Given the description of an element on the screen output the (x, y) to click on. 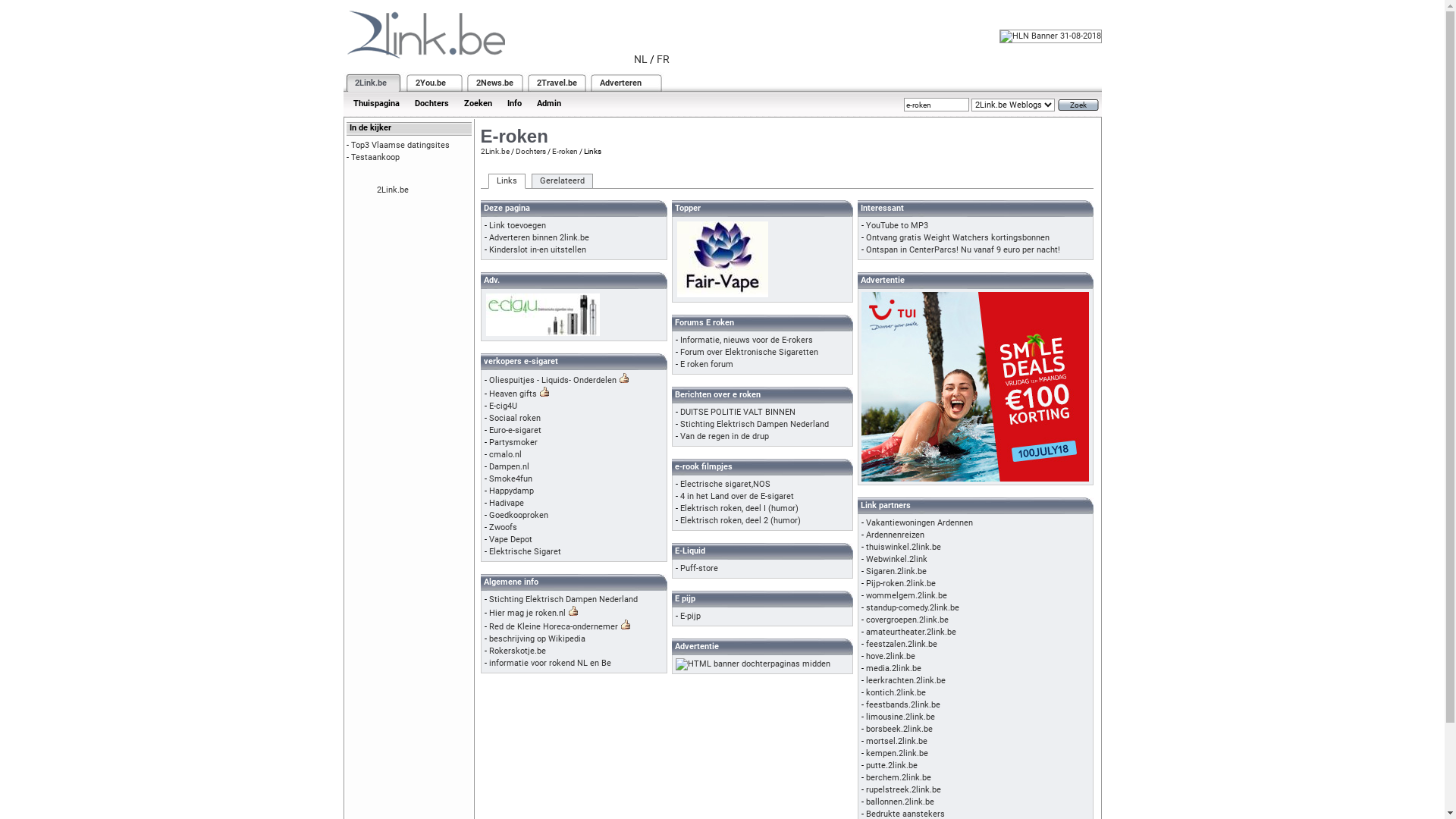
Adverteren Element type: text (619, 82)
media.2link.be Element type: text (893, 668)
2News.be Element type: text (494, 82)
Admin Element type: text (548, 103)
Thuispagina Element type: text (376, 103)
Stichting Elektrisch Dampen Nederland Element type: text (753, 424)
Links Element type: text (506, 180)
Electrische sigaret,NOS Element type: text (724, 484)
NL Element type: text (640, 59)
limousine.2link.be Element type: text (900, 716)
Sigaren.2link.be Element type: text (896, 571)
E-roken Element type: text (564, 151)
Dochters Element type: text (430, 103)
2You.be Element type: text (430, 82)
Gerelateerd Element type: text (561, 180)
Vape Depot Element type: text (509, 539)
cmalo.nl Element type: text (504, 454)
Stichting Elektrisch Dampen Nederland Element type: text (562, 599)
hove.2link.be Element type: text (890, 656)
Euro-e-sigaret Element type: text (514, 430)
wommelgem.2link.be Element type: text (906, 595)
mortsel.2link.be Element type: text (896, 741)
Puff-store Element type: text (698, 568)
Red de Kleine Horeca-ondernemer Element type: text (552, 626)
2Travel.be Element type: text (556, 82)
2Link.be Element type: text (391, 189)
amateurtheater.2link.be Element type: text (911, 632)
Ardennenreizen Element type: text (895, 534)
2Link.be Element type: text (370, 82)
Hadivape Element type: text (505, 503)
standup-comedy.2link.be Element type: text (912, 607)
kempen.2link.be Element type: text (897, 753)
Zwoofs Element type: text (502, 527)
Webwinkel.2link Element type: text (896, 559)
2Link.be Element type: text (494, 151)
thuiswinkel.2link.be Element type: text (903, 547)
Testaankoop Element type: text (374, 157)
Adverteren binnen 2link.be Element type: text (538, 237)
Dampen.nl Element type: text (508, 466)
Sociaal roken Element type: text (513, 418)
kontich.2link.be Element type: text (895, 692)
beschrijving op Wikipedia Element type: text (536, 638)
Vakantiewoningen Ardennen Element type: text (919, 522)
feestzalen.2link.be Element type: text (901, 644)
Partysmoker Element type: text (512, 442)
Elektrisch roken, deel 2 (humor) Element type: text (739, 520)
Zoek Element type: text (1077, 103)
borsbeek.2link.be Element type: text (899, 729)
Hier mag je roken.nl Element type: text (526, 613)
Kinderslot in-en uitstellen Element type: text (536, 249)
E-pijp Element type: text (689, 616)
informatie voor rokend NL en Be Element type: text (549, 663)
feestbands.2link.be Element type: text (903, 704)
Oliespuitjes - Liquids- Onderdelen Element type: text (551, 380)
Van de regen in de drup Element type: text (723, 436)
DUITSE POLITIE VALT BINNEN Element type: text (736, 412)
Informatie, nieuws voor de E-rokers Element type: text (745, 340)
4 in het Land over de E-sigaret Element type: text (736, 496)
FR Element type: text (662, 59)
Top3 Vlaamse datingsites Element type: text (399, 145)
Smoke4fun Element type: text (509, 478)
rupelstreek.2link.be Element type: text (903, 789)
Info Element type: text (513, 103)
Zoeken Element type: text (477, 103)
Heaven gifts Element type: text (512, 393)
putte.2link.be Element type: text (891, 765)
Goedkooproken Element type: text (517, 515)
E-cig4U Element type: text (502, 406)
Ontspan in CenterParcs! Nu vanaf 9 euro per nacht! Element type: text (963, 249)
Dochters Element type: text (530, 151)
Rokerskotje.be Element type: text (516, 650)
Pijp-roken.2link.be Element type: text (900, 583)
E roken forum Element type: text (705, 364)
Elektrisch roken, deel I (humor) Element type: text (738, 508)
Elektrische Sigaret Element type: text (524, 551)
Link toevoegen Element type: text (516, 225)
berchem.2link.be Element type: text (898, 777)
leerkrachten.2link.be Element type: text (905, 680)
YouTube to MP3 Element type: text (897, 225)
Forum over Elektronische Sigaretten Element type: text (748, 352)
covergroepen.2link.be Element type: text (907, 619)
ballonnen.2link.be Element type: text (900, 801)
Ontvang gratis Weight Watchers kortingsbonnen Element type: text (957, 237)
Happydamp Element type: text (510, 490)
